Given the description of an element on the screen output the (x, y) to click on. 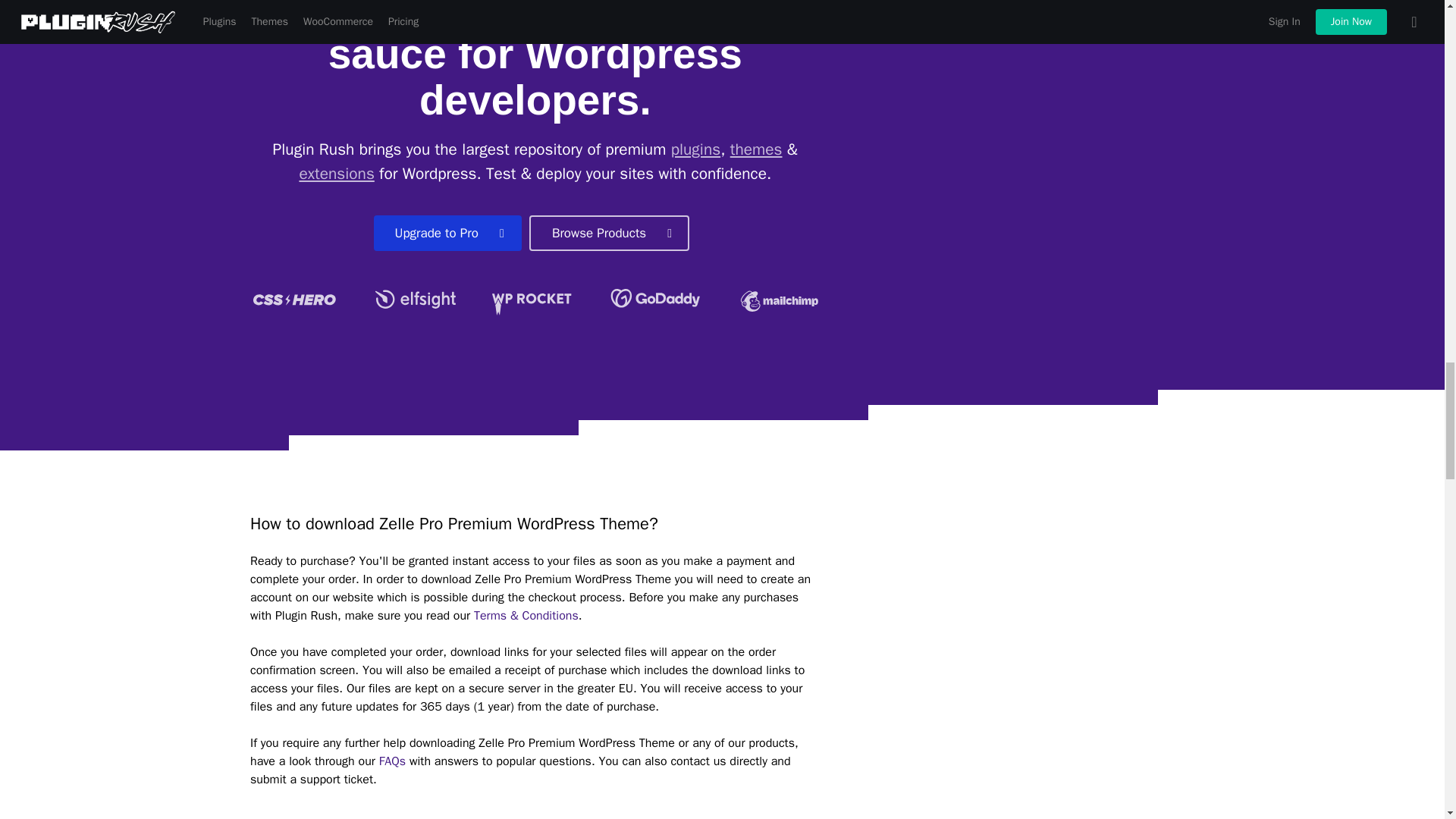
Browse Products (608, 232)
plugins (695, 148)
FAQs (392, 761)
themes (756, 148)
extensions (336, 173)
Upgrade to Pro (447, 232)
